Given the description of an element on the screen output the (x, y) to click on. 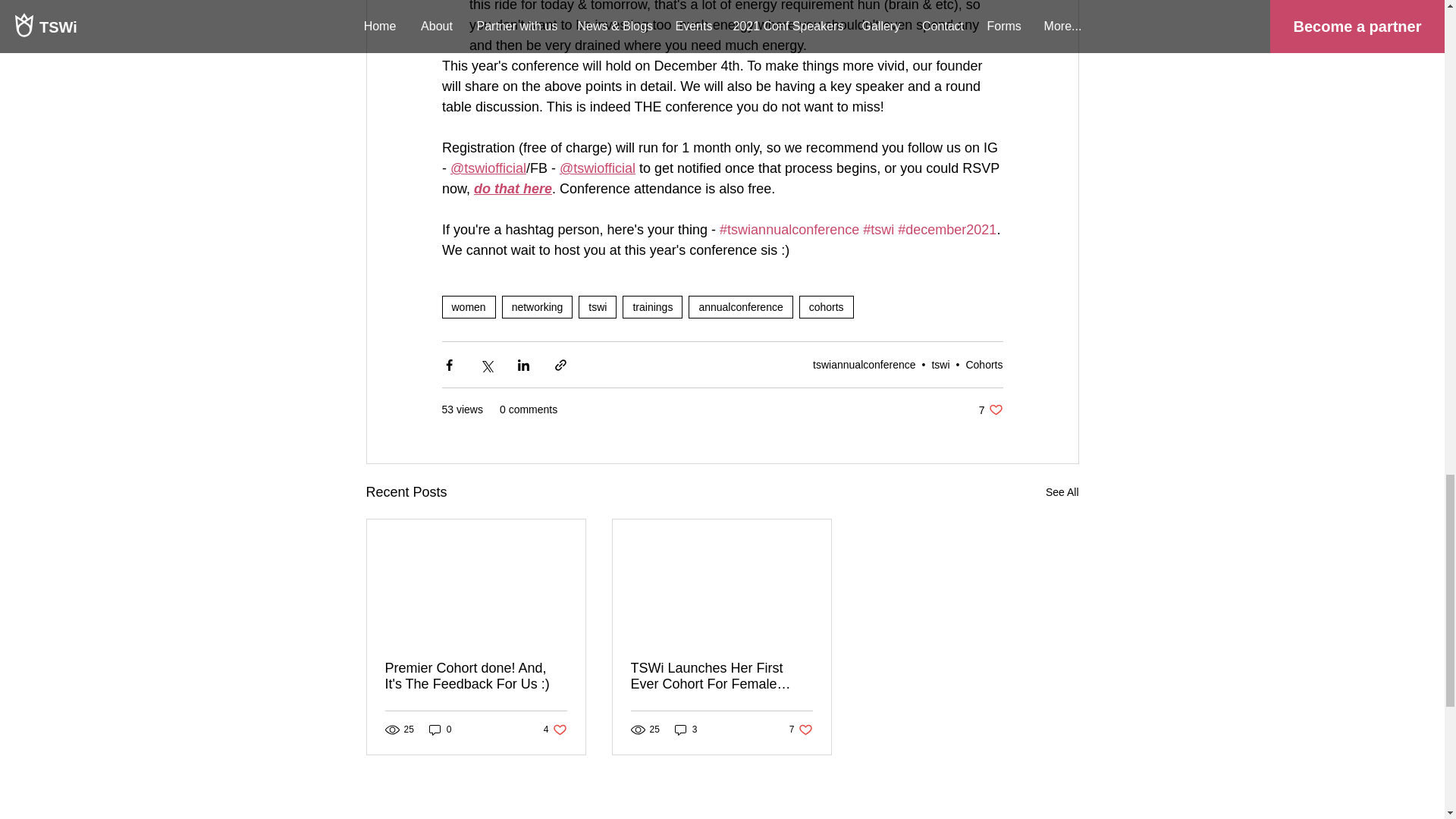
trainings (652, 306)
do that here (512, 188)
annualconference (740, 306)
cohorts (826, 306)
tswi (596, 306)
women (468, 306)
networking (537, 306)
